Given the description of an element on the screen output the (x, y) to click on. 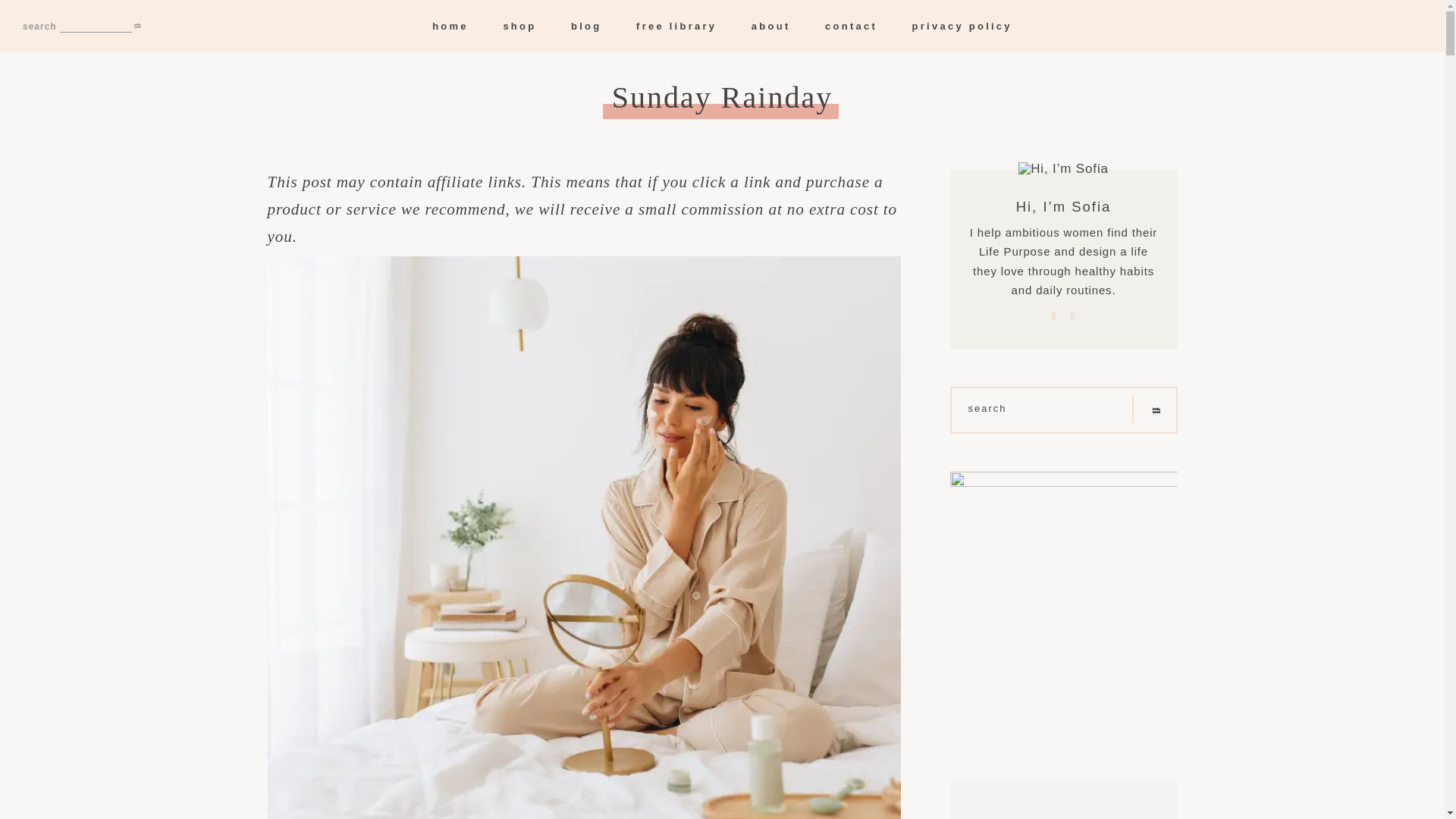
blog (585, 26)
free library (676, 26)
Sunday Rainday (721, 97)
privacy policy (961, 26)
shop (518, 26)
home (450, 26)
about (770, 26)
contact (851, 26)
